Given the description of an element on the screen output the (x, y) to click on. 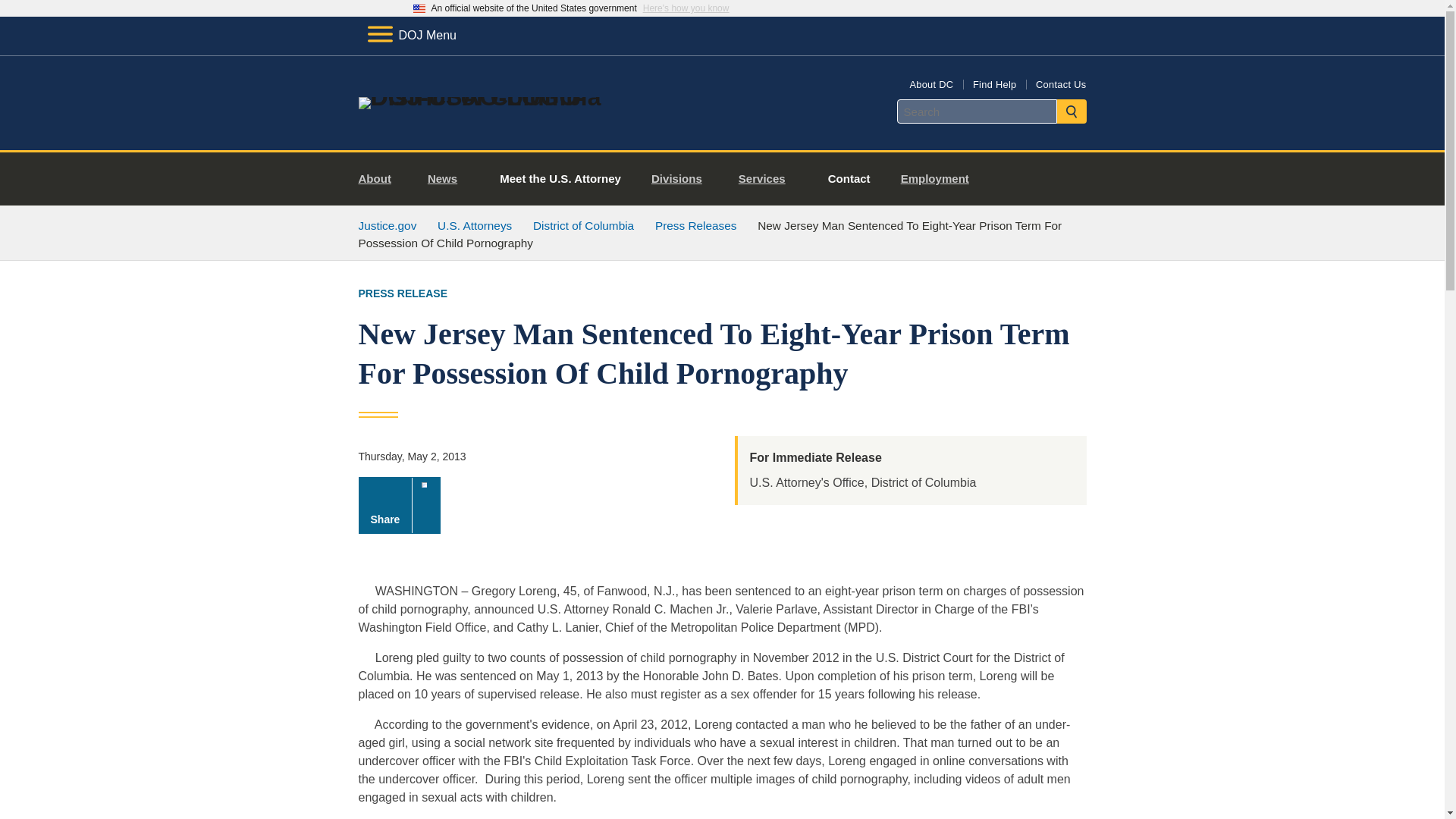
Justice.gov (387, 225)
Share (398, 504)
Divisions (682, 179)
News (447, 179)
About DC (930, 84)
Press Releases (695, 225)
Here's how you know (686, 8)
U.S. Attorneys (475, 225)
DOJ Menu (411, 35)
District of Columbia (582, 225)
Find Help (994, 84)
Home (481, 96)
Services (767, 179)
Contact (848, 179)
Employment (940, 179)
